Given the description of an element on the screen output the (x, y) to click on. 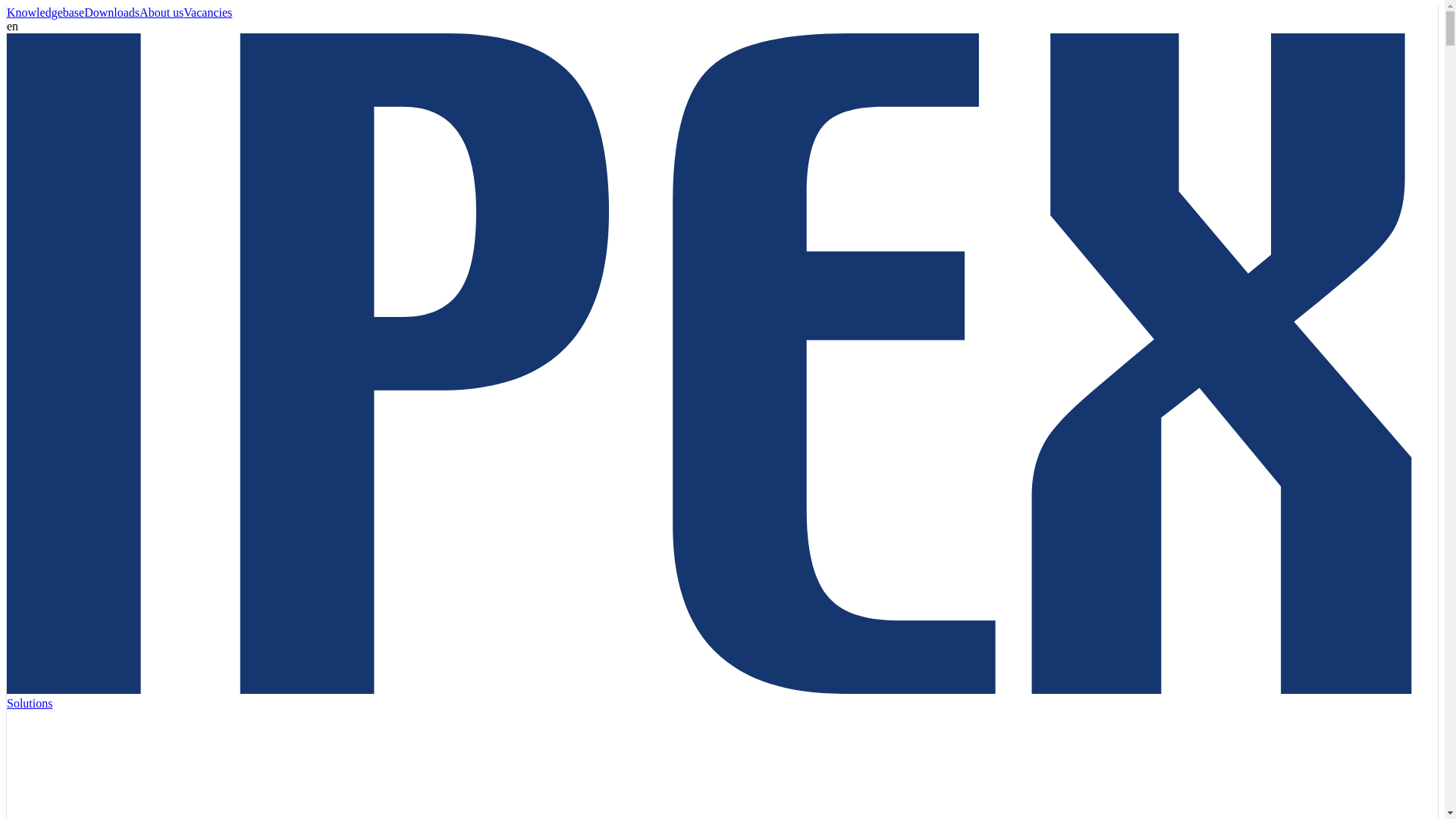
Downloads (111, 11)
About us (161, 11)
Knowledgebase (45, 11)
Vacancies (207, 11)
